Given the description of an element on the screen output the (x, y) to click on. 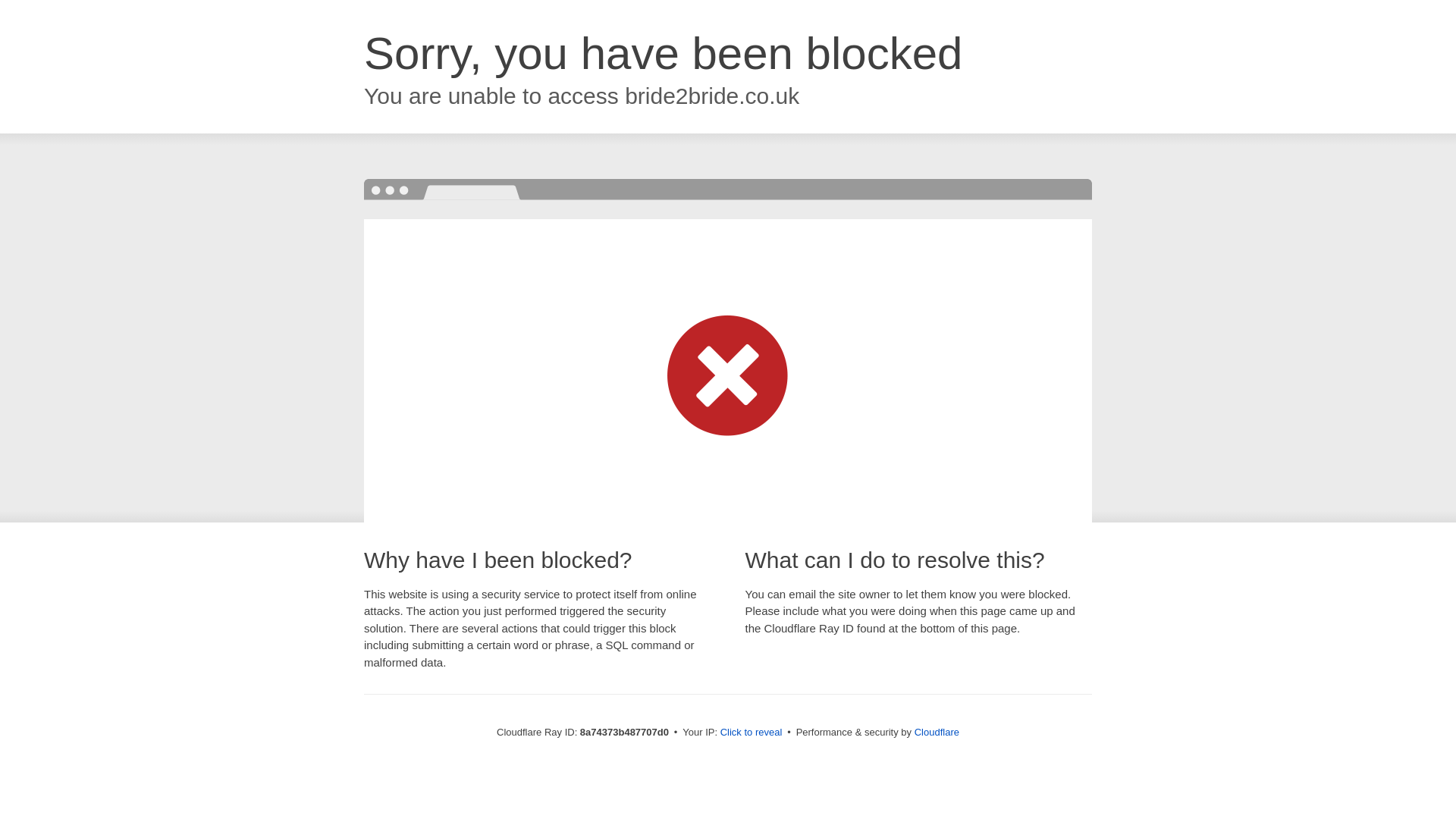
Click to reveal (751, 732)
Cloudflare (936, 731)
